Given the description of an element on the screen output the (x, y) to click on. 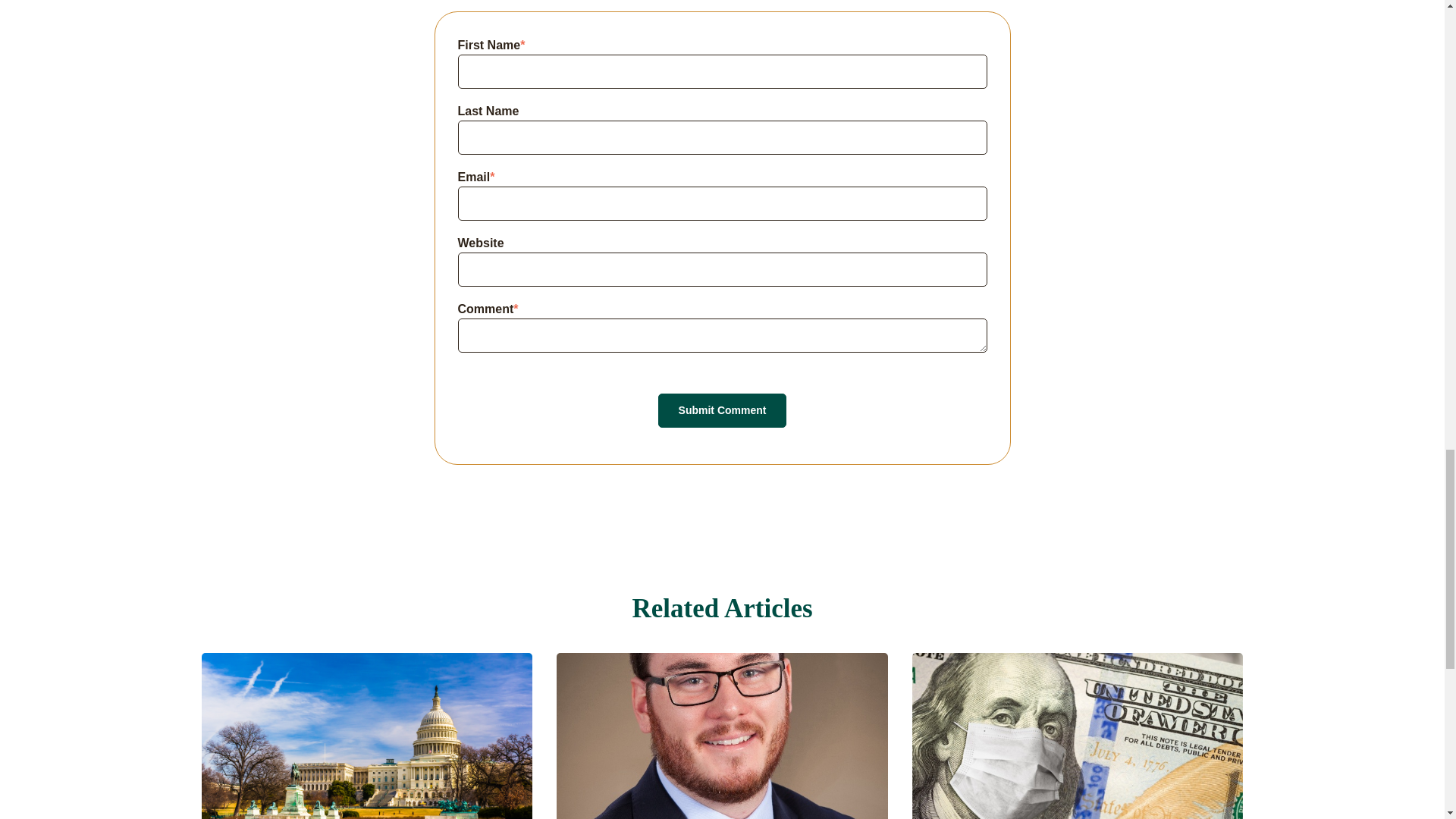
Submit Comment (722, 410)
Submit Comment (722, 410)
